Given the description of an element on the screen output the (x, y) to click on. 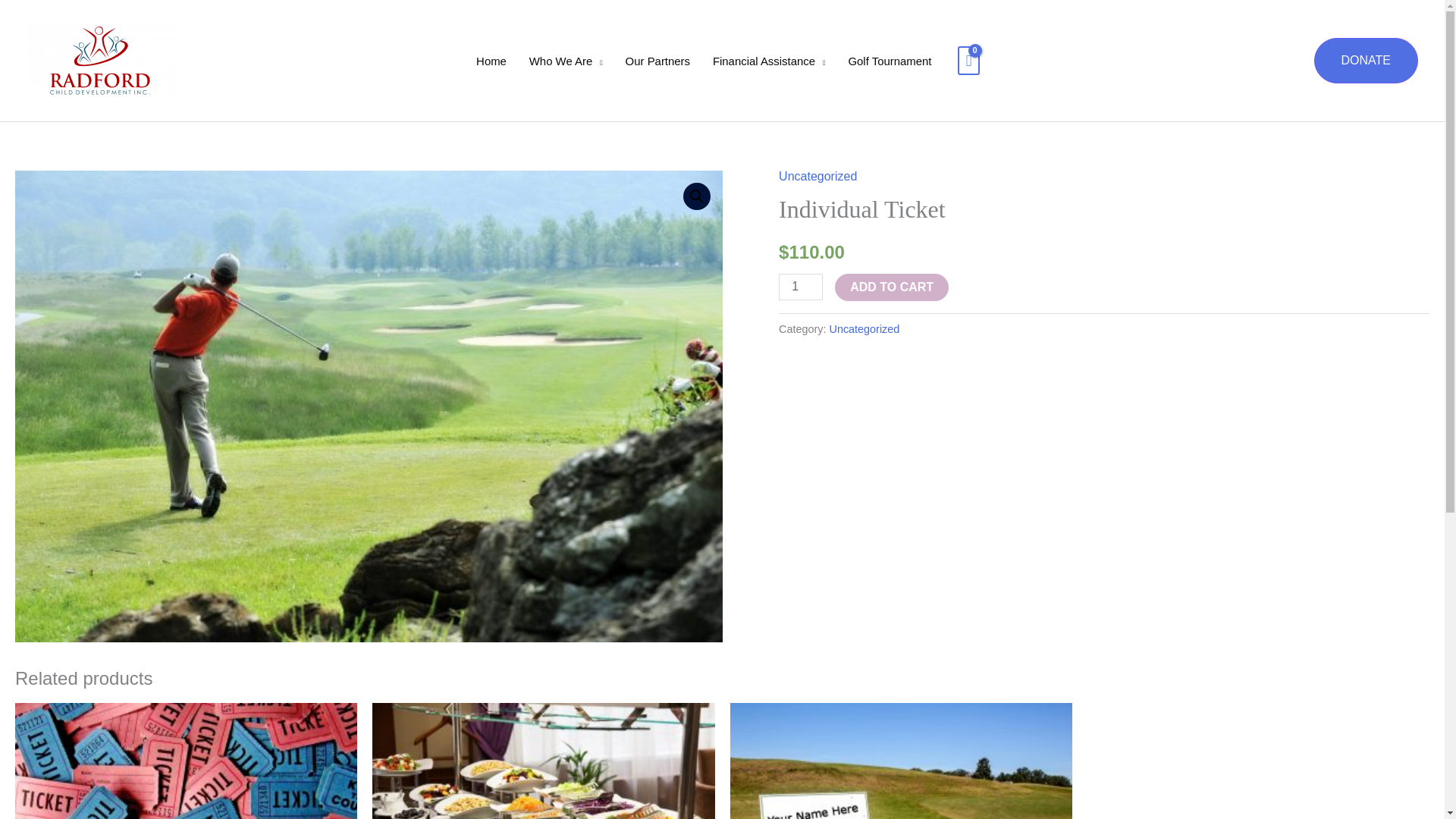
Financial Assistance (769, 60)
Uncategorized (817, 175)
Who We Are (566, 60)
Uncategorized (864, 328)
Home (491, 60)
ADD TO CART (891, 287)
DONATE (1366, 60)
Our Partners (657, 60)
Golf Tournament (890, 60)
1 (800, 286)
